Given the description of an element on the screen output the (x, y) to click on. 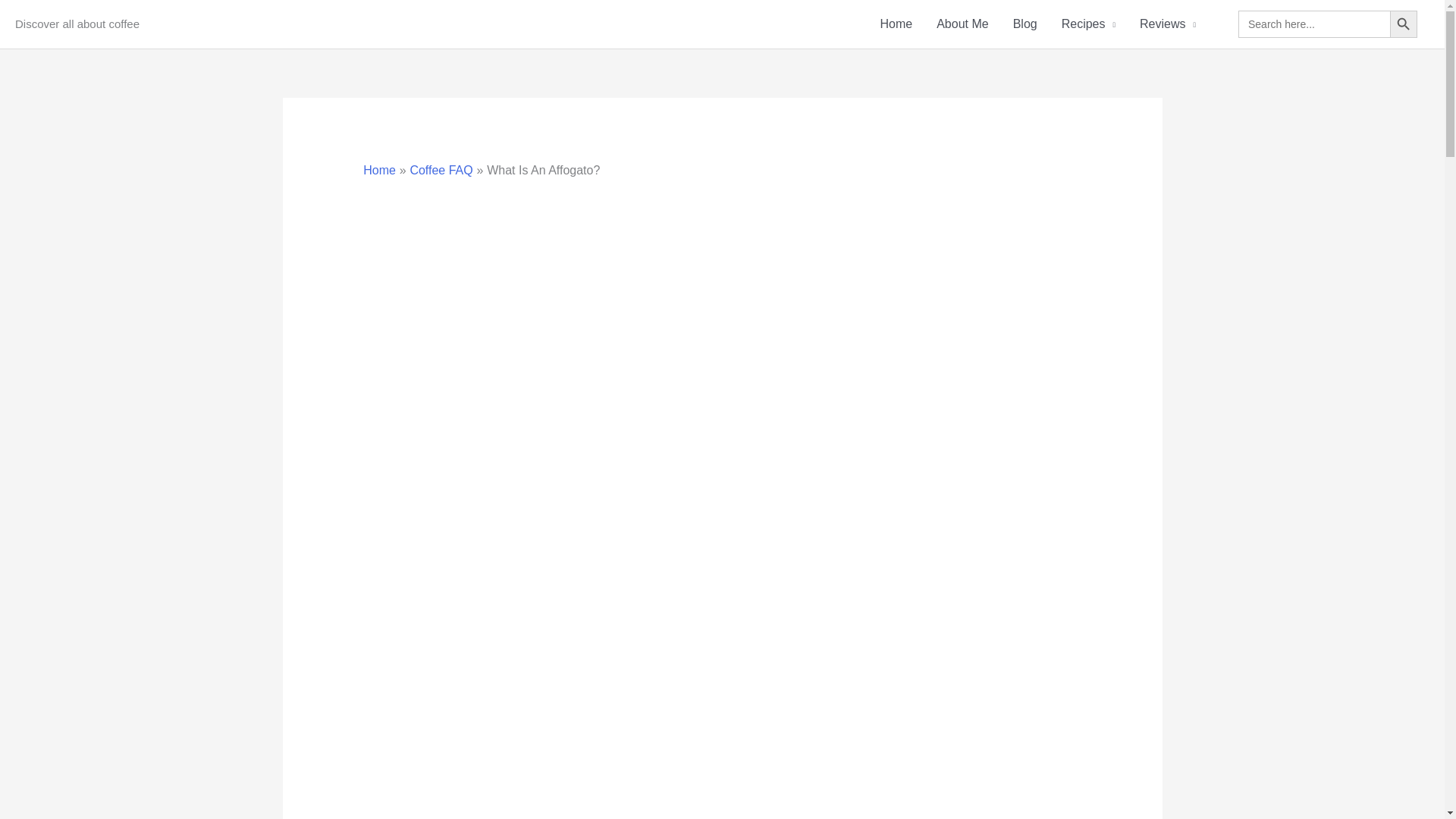
Home (895, 24)
Coffee FAQ (440, 169)
Reviews (1167, 24)
About Me (962, 24)
Home (379, 169)
Blog (1025, 24)
Search Button (1403, 23)
Recipes (1087, 24)
